Given the description of an element on the screen output the (x, y) to click on. 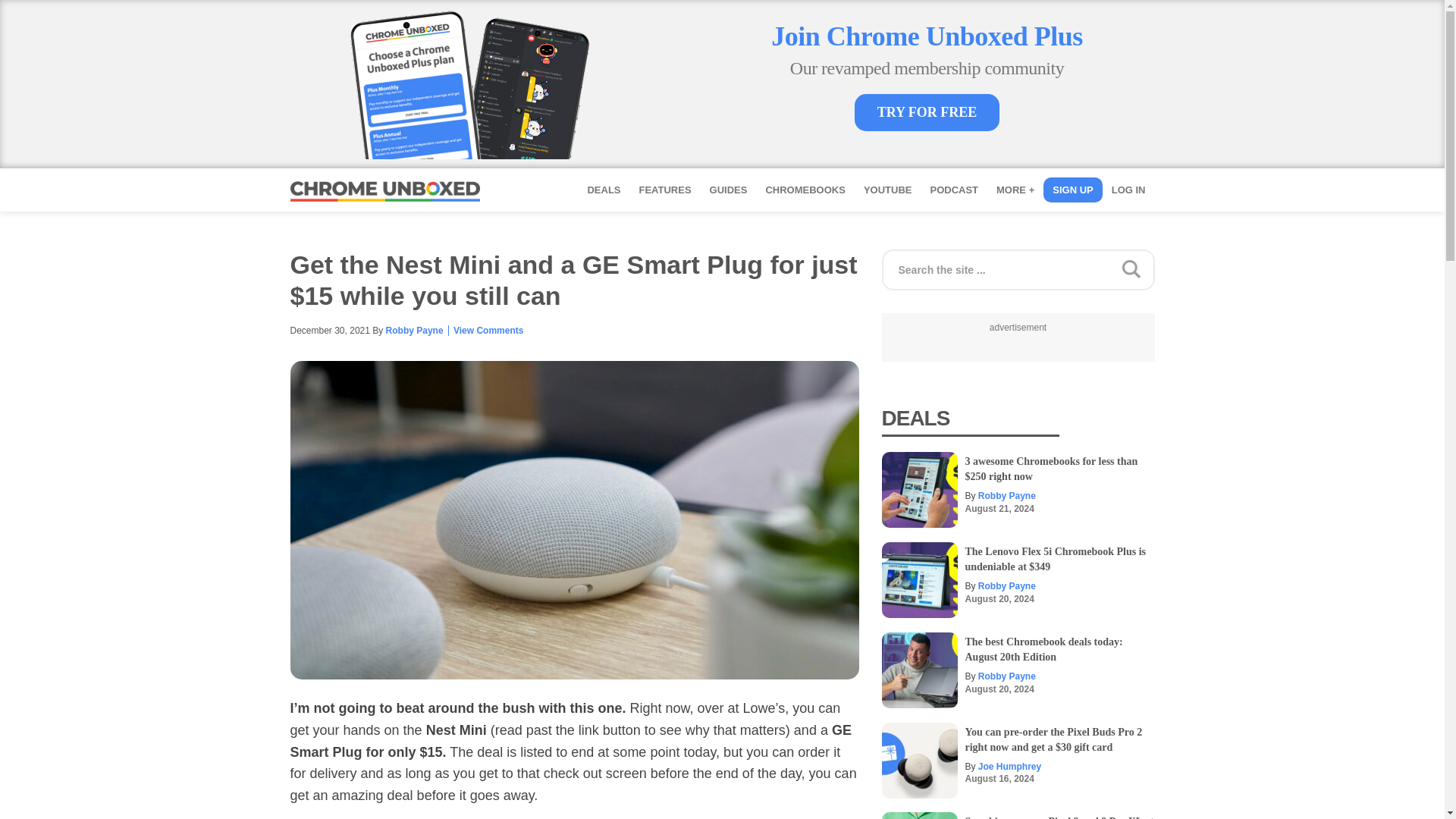
CHROMEBOOKS (804, 189)
Search (1290, 263)
Search (1290, 263)
GUIDES (728, 189)
PODCAST (953, 189)
DEALS (603, 189)
YOUTUBE (887, 189)
TRY FOR FREE (927, 112)
FEATURES (664, 189)
